Given the description of an element on the screen output the (x, y) to click on. 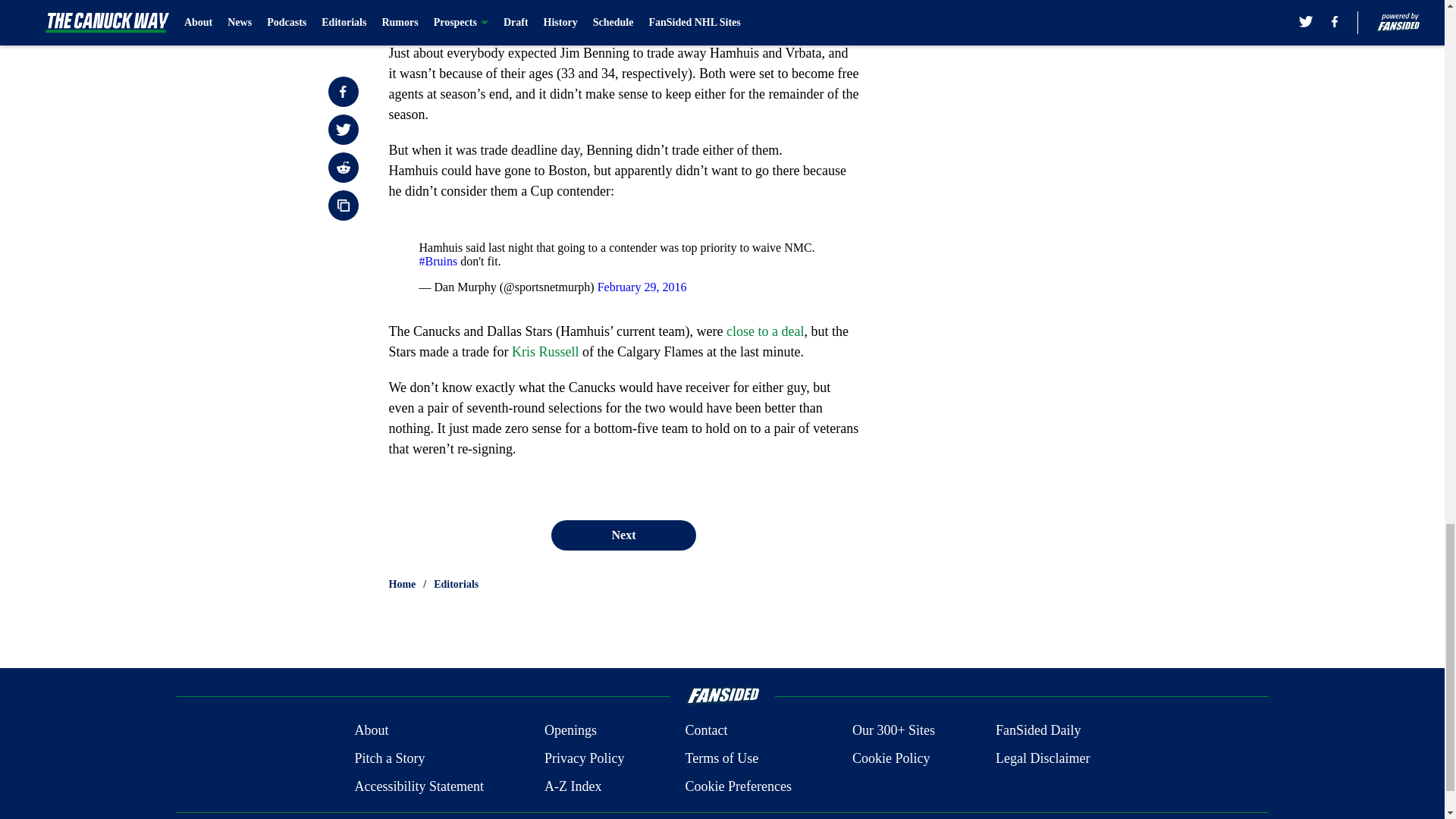
FanSided Daily (1038, 730)
Next (622, 535)
close to a deal (764, 331)
Openings (570, 730)
About (370, 730)
Contact (705, 730)
Pitch a Story (389, 758)
Kris Russell (545, 351)
Home (401, 584)
February 29, 2016 (641, 286)
